Given the description of an element on the screen output the (x, y) to click on. 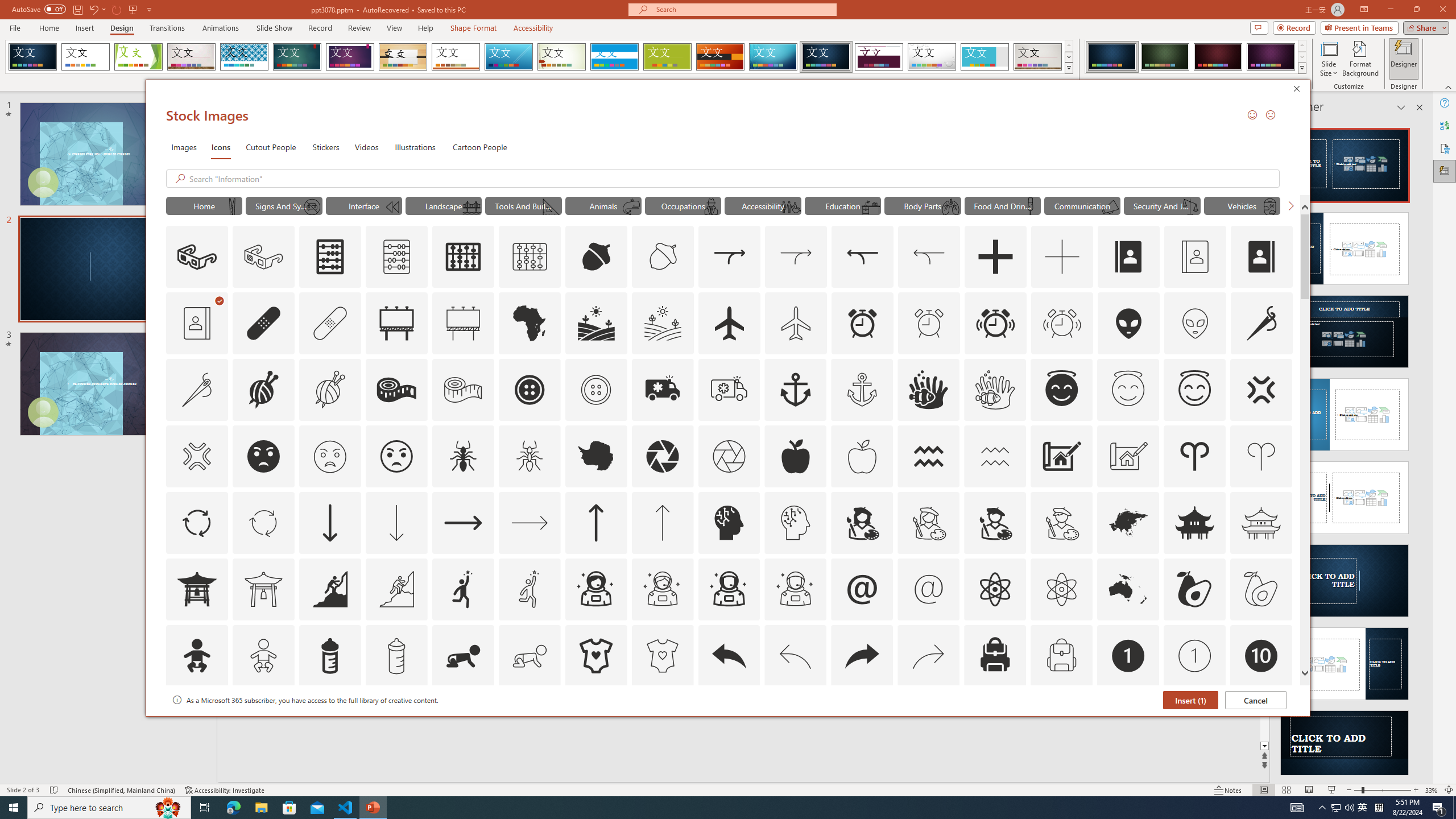
AutomationID: Icons_Architecture (1061, 455)
AutomationID: Icons_Asia (1128, 522)
AutomationID: Icons_Architecture_M (1128, 455)
AutomationID: Icons_Desk_M (870, 206)
Slice (508, 56)
AutomationID: Icons_AlterationsTailoring1_M (329, 389)
AutomationID: Icons_AdhesiveBandage (263, 323)
AutomationID: Icons_Aperture_M (729, 455)
AutomationID: Icons_DetectiveMale_M (710, 206)
